Given the description of an element on the screen output the (x, y) to click on. 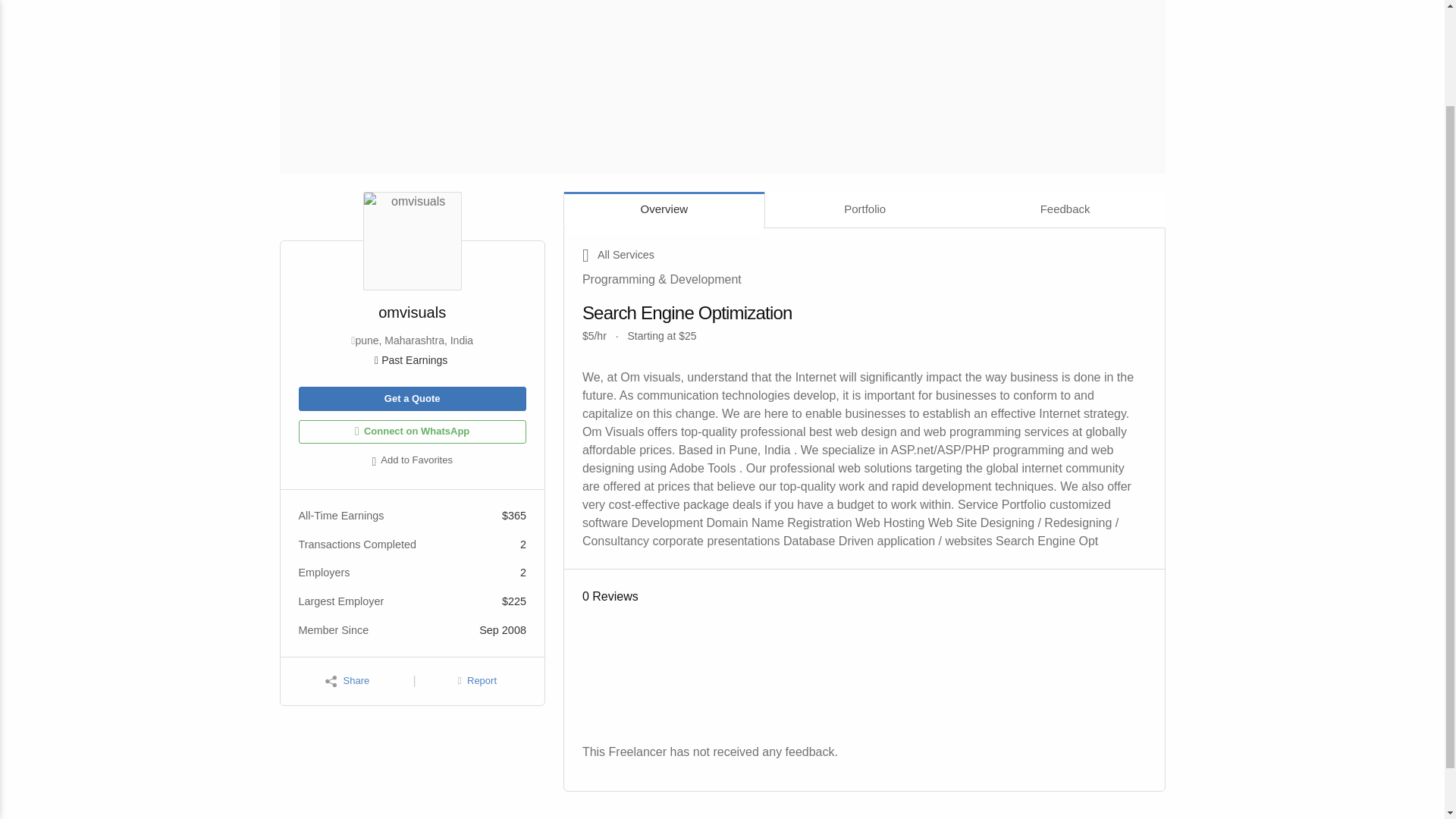
Report (477, 680)
Get a Quote (411, 398)
Earnings in last 12 months (411, 359)
Share (347, 680)
Add to Favorites (411, 461)
Connect on WhatsApp (411, 431)
